Given the description of an element on the screen output the (x, y) to click on. 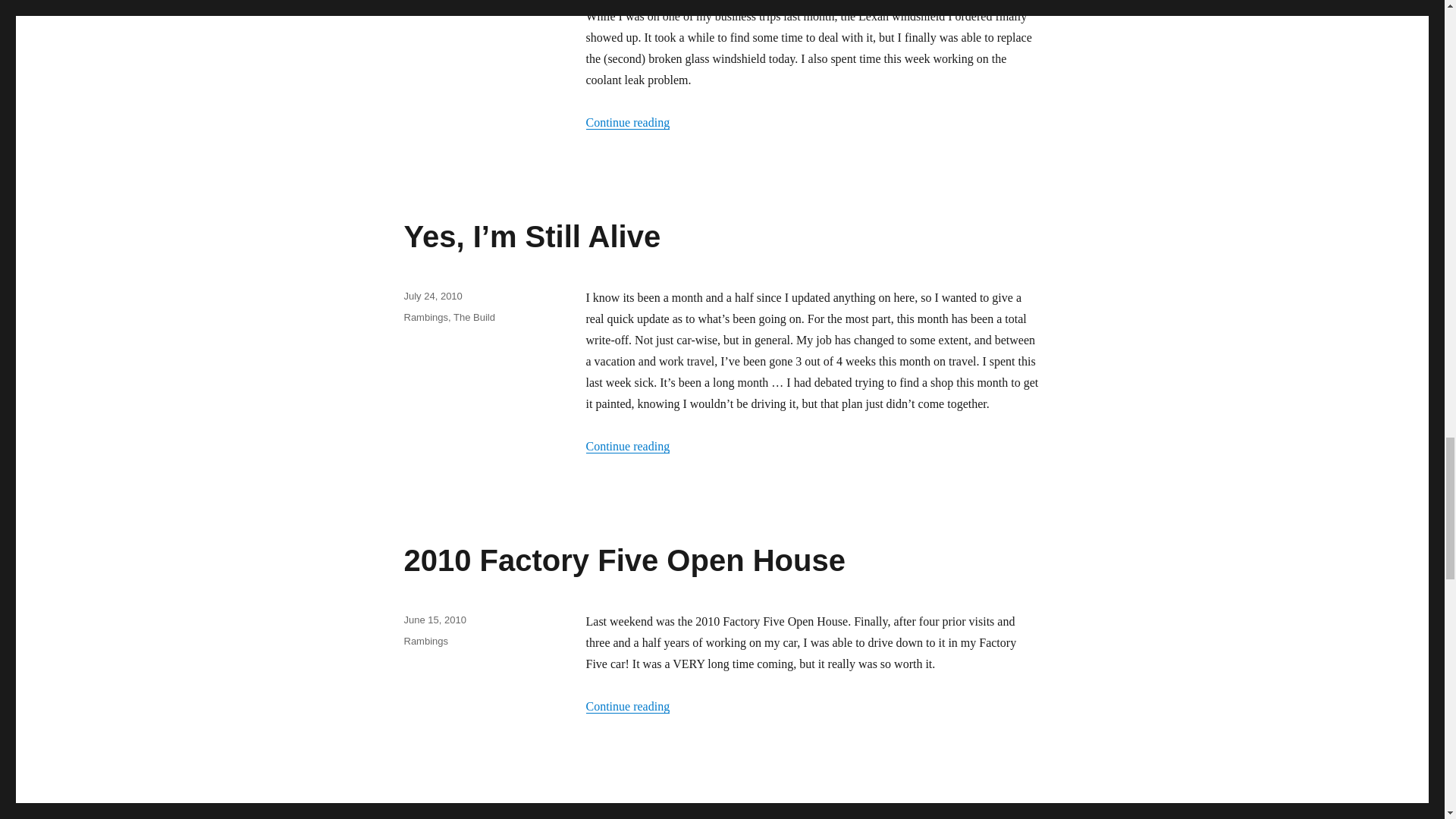
July 24, 2010 (432, 296)
2010 Factory Five Open House (623, 560)
June 15, 2010 (434, 619)
Rambings (425, 317)
Reworking the Heat and Vent (612, 811)
The Build (473, 317)
Rambings (425, 641)
